Given the description of an element on the screen output the (x, y) to click on. 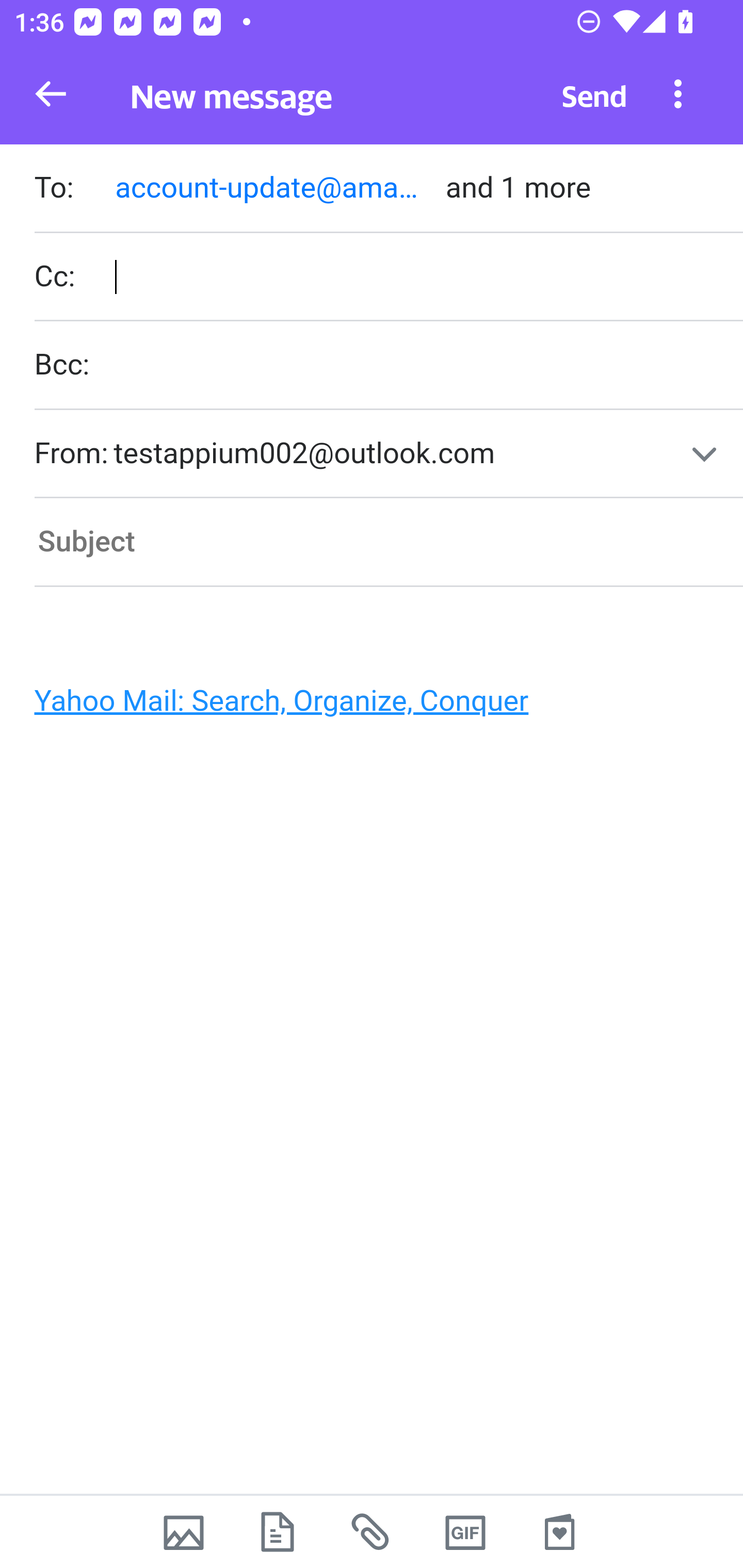
Back (50, 93)
Send (594, 93)
More options (677, 93)
To: account-update@amazon.com, and 1 more (387, 189)
account-update@amazon.com, (271, 187)
Cc: (387, 276)
Bcc: (387, 365)
chevron_down From: testappium002@outlook.com (387, 453)


Yahoo Mail: Search, Organize, Conquer (363, 705)
Camera photos (183, 1531)
Device files (277, 1531)
Recent attachments from mail (371, 1531)
GIFs (465, 1531)
Stationery (559, 1531)
